Given the description of an element on the screen output the (x, y) to click on. 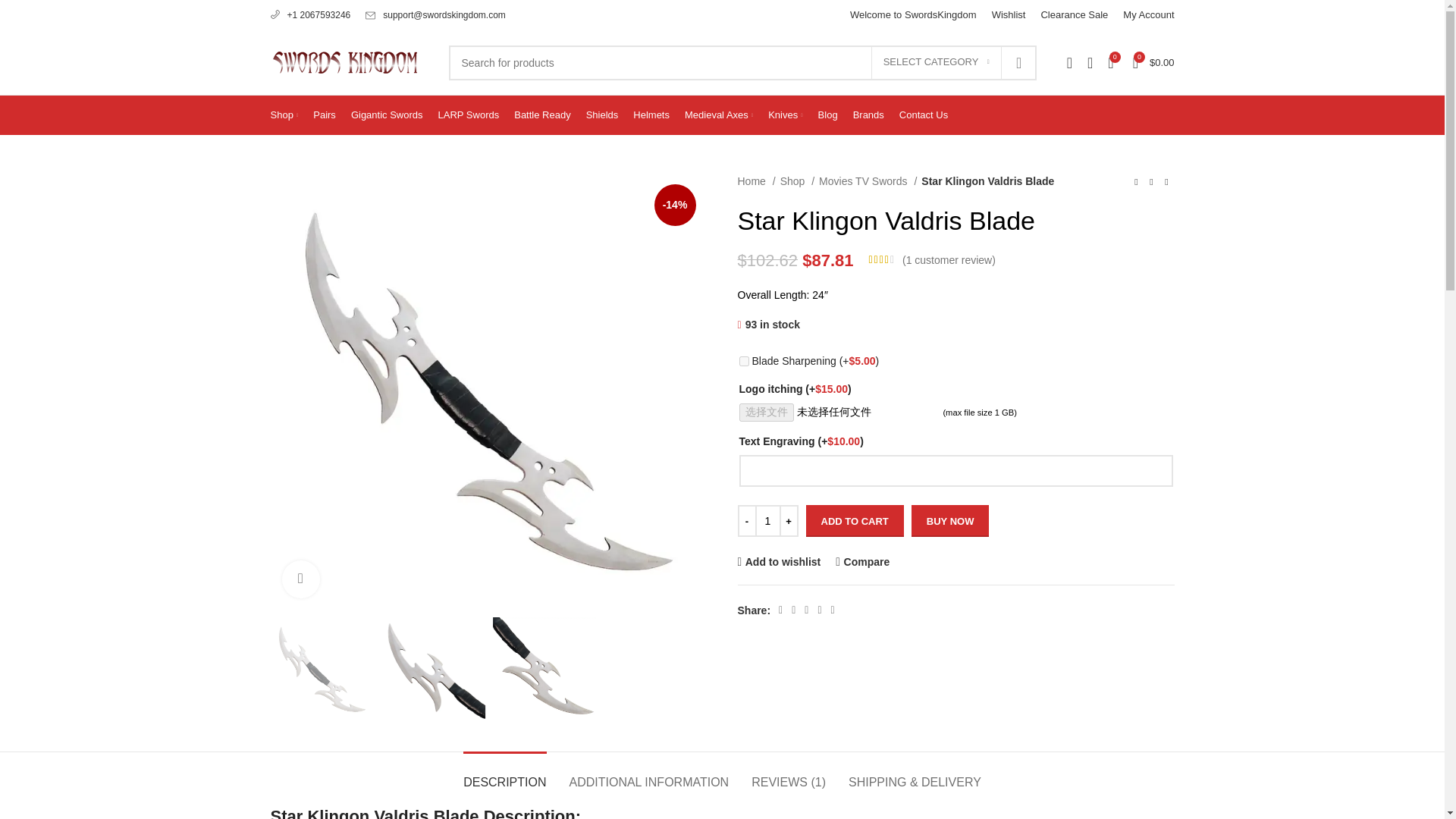
My account (1069, 61)
SELECT CATEGORY (935, 62)
My Wishlist (1090, 61)
Star Klingon Valdris Blade (1226, 181)
Shopping cart (1153, 61)
Star Klingon Valdris Blade (781, 181)
My Account (1147, 15)
SELECT CATEGORY (935, 62)
Compare products (1110, 61)
Clearance Sale (1074, 15)
Welcome to SwordsKingdom (913, 15)
- (745, 521)
Wishlist (1008, 15)
1 (767, 521)
